Given the description of an element on the screen output the (x, y) to click on. 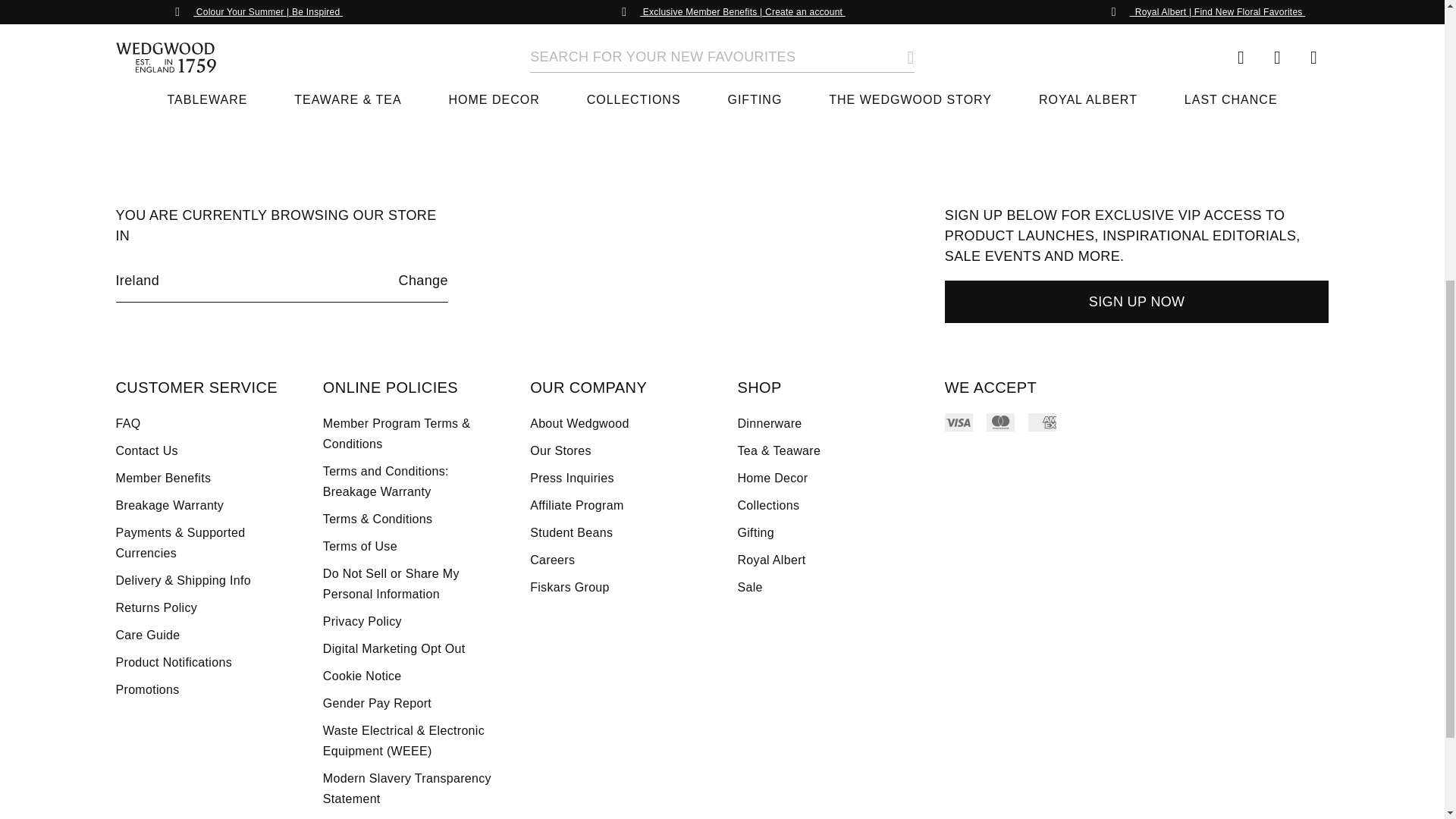
Amex (1042, 422)
Visa (958, 422)
Visa (958, 422)
MasterCard (1000, 422)
Mastercard (1000, 422)
Amex (1042, 422)
